Given the description of an element on the screen output the (x, y) to click on. 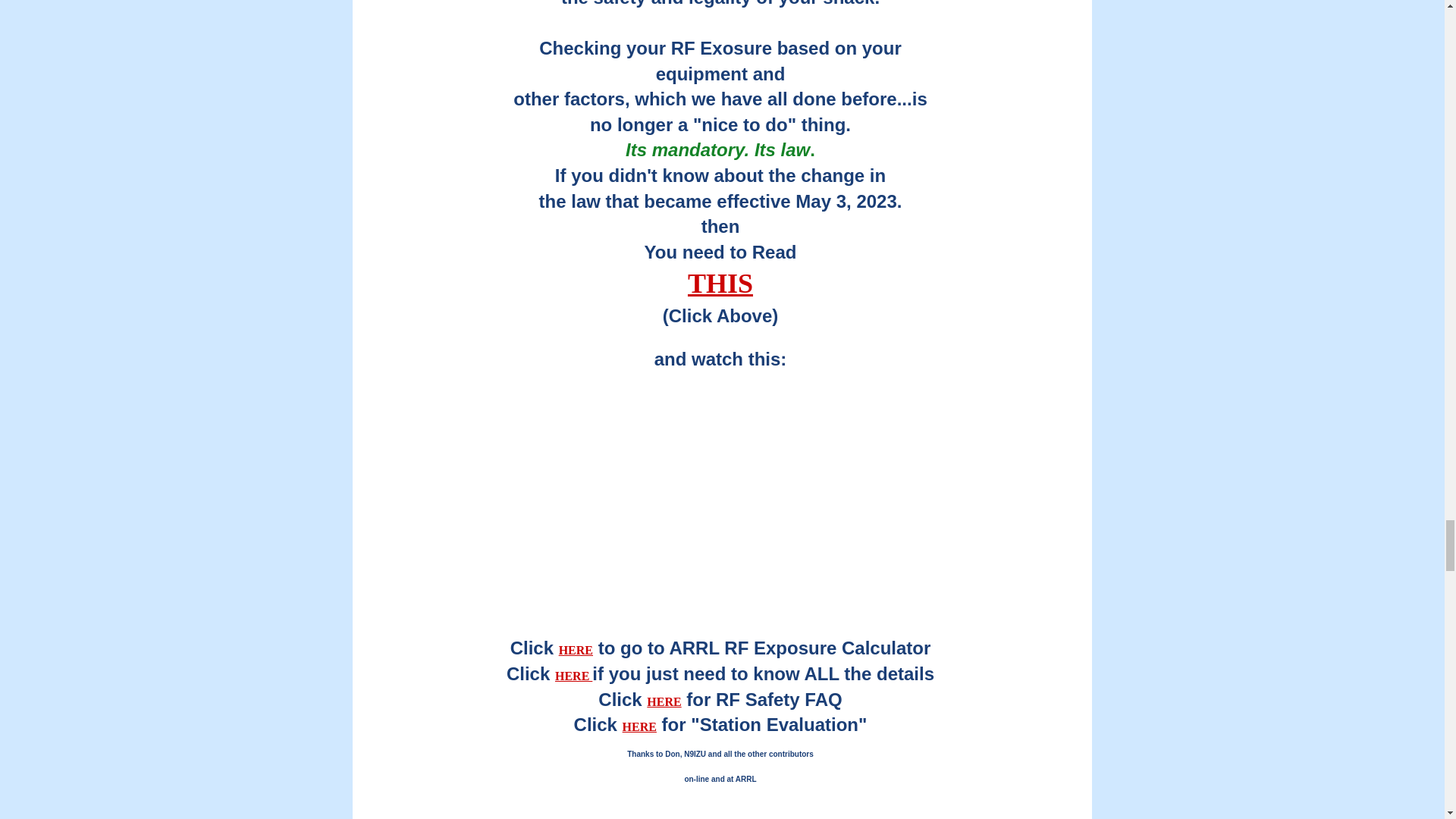
HERE (663, 701)
THIS (719, 283)
YouTube video player (720, 491)
HERE (639, 726)
HERE (575, 649)
HERE (573, 675)
